Given the description of an element on the screen output the (x, y) to click on. 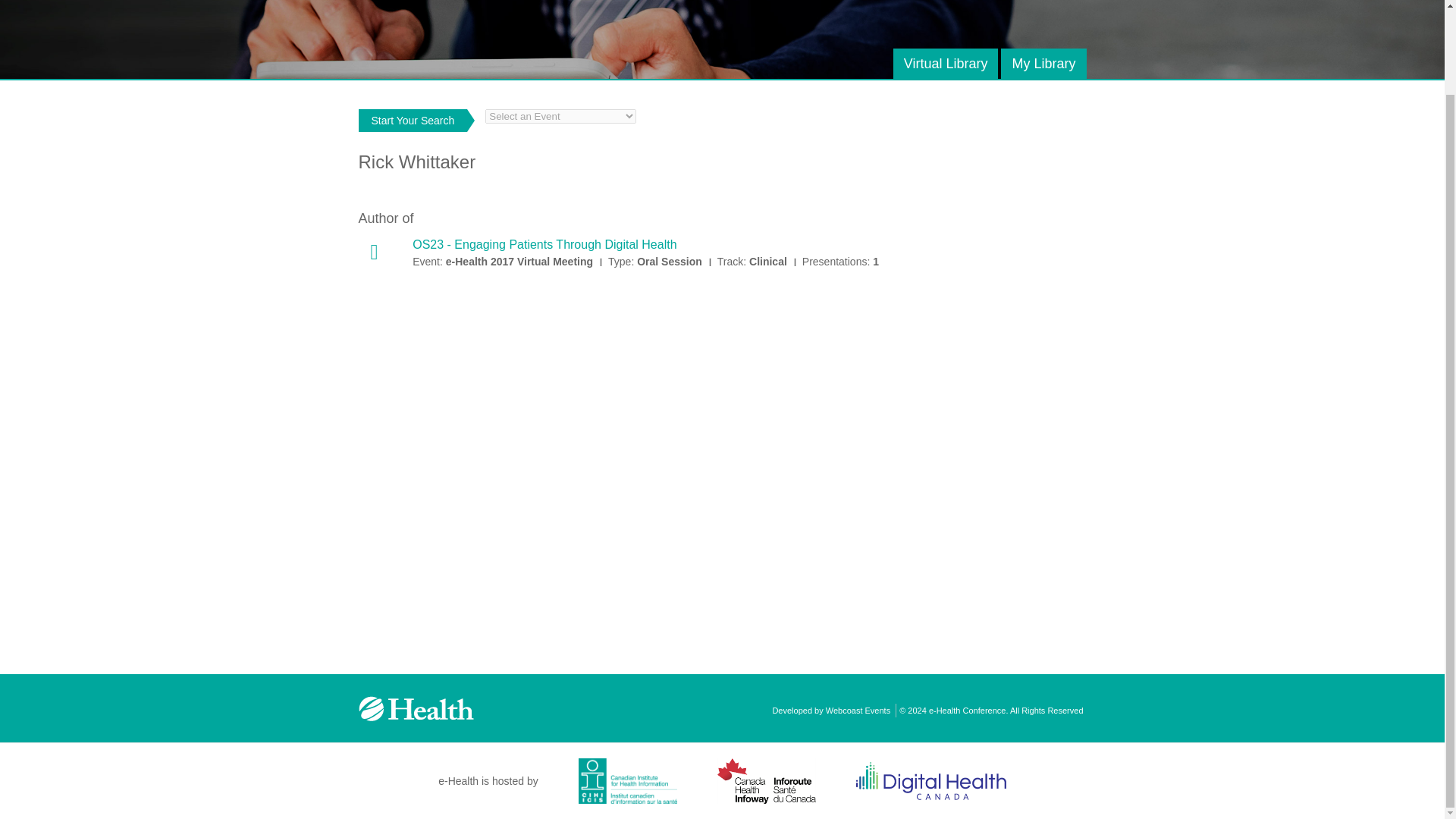
My Library (1043, 63)
Virtual Library (945, 63)
